Given the description of an element on the screen output the (x, y) to click on. 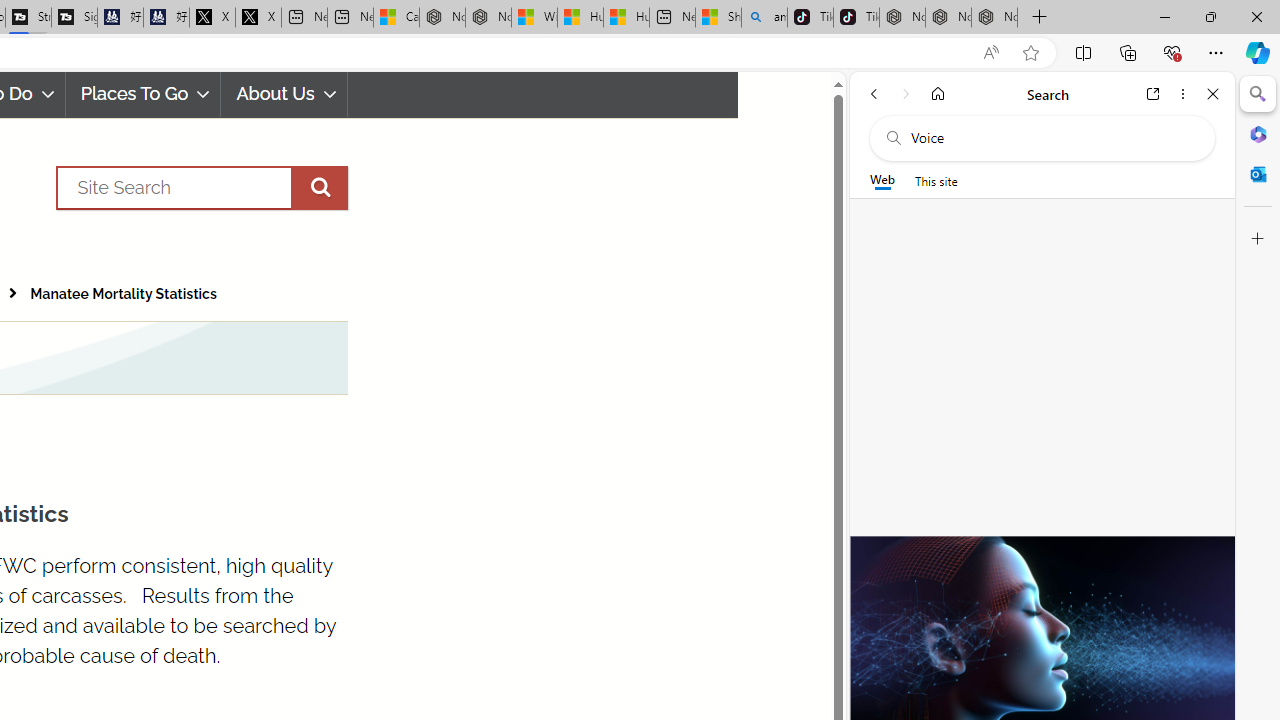
This site scope (936, 180)
Restore (1210, 16)
Huge shark washes ashore at New York City beach | Watch (626, 17)
Microsoft 365 (1258, 133)
Web scope (882, 180)
About Us (283, 94)
Copilot (Ctrl+Shift+.) (1258, 52)
New tab (672, 17)
Back (874, 93)
TikTok (856, 17)
Read aloud this page (Ctrl+Shift+U) (991, 53)
Collections (1128, 52)
Minimize (1164, 16)
Split screen (1083, 52)
